Given the description of an element on the screen output the (x, y) to click on. 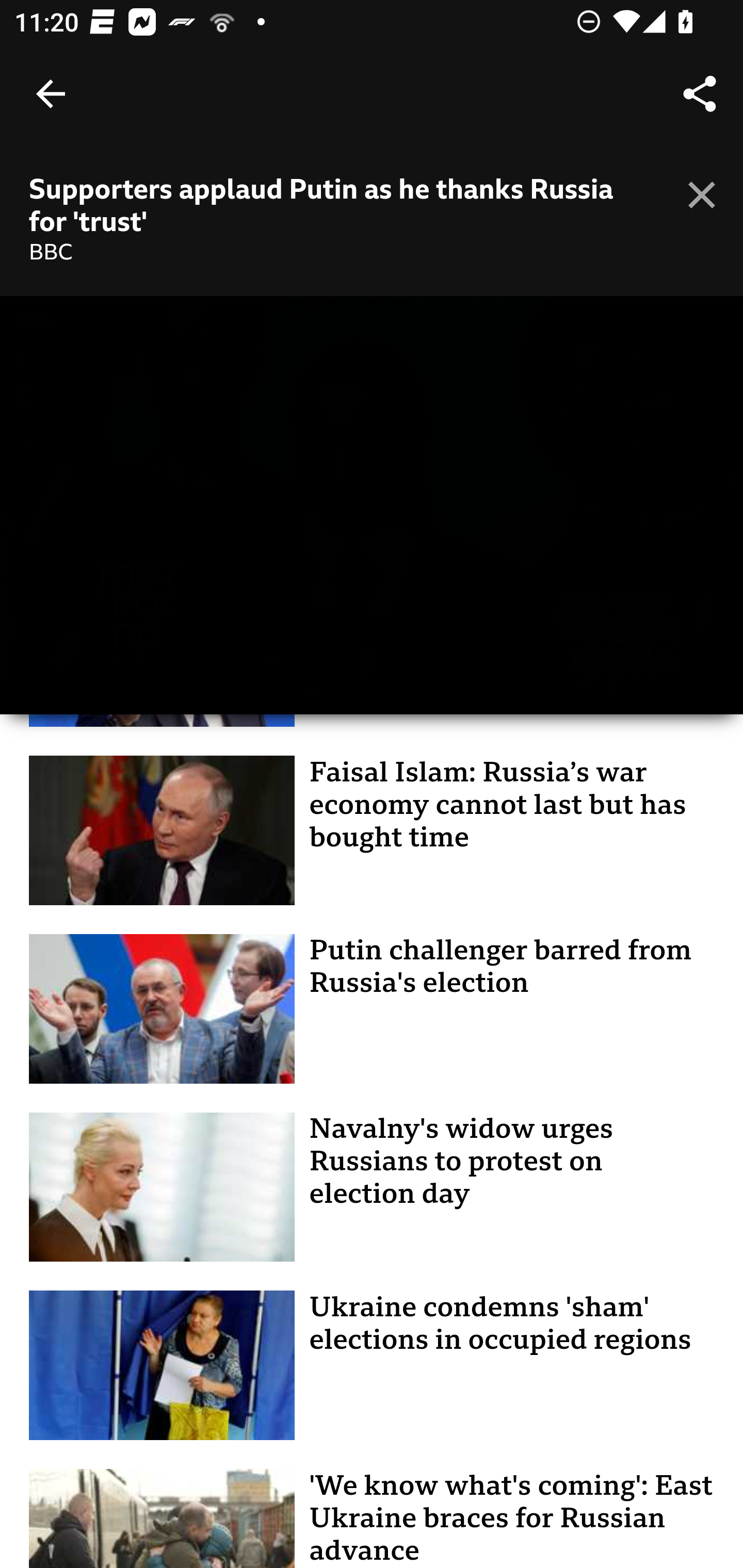
Back (50, 93)
Share (699, 93)
Putin challenger barred from Russia's election (372, 1008)
Putin challenger barred from Russia's election (500, 965)
